Given the description of an element on the screen output the (x, y) to click on. 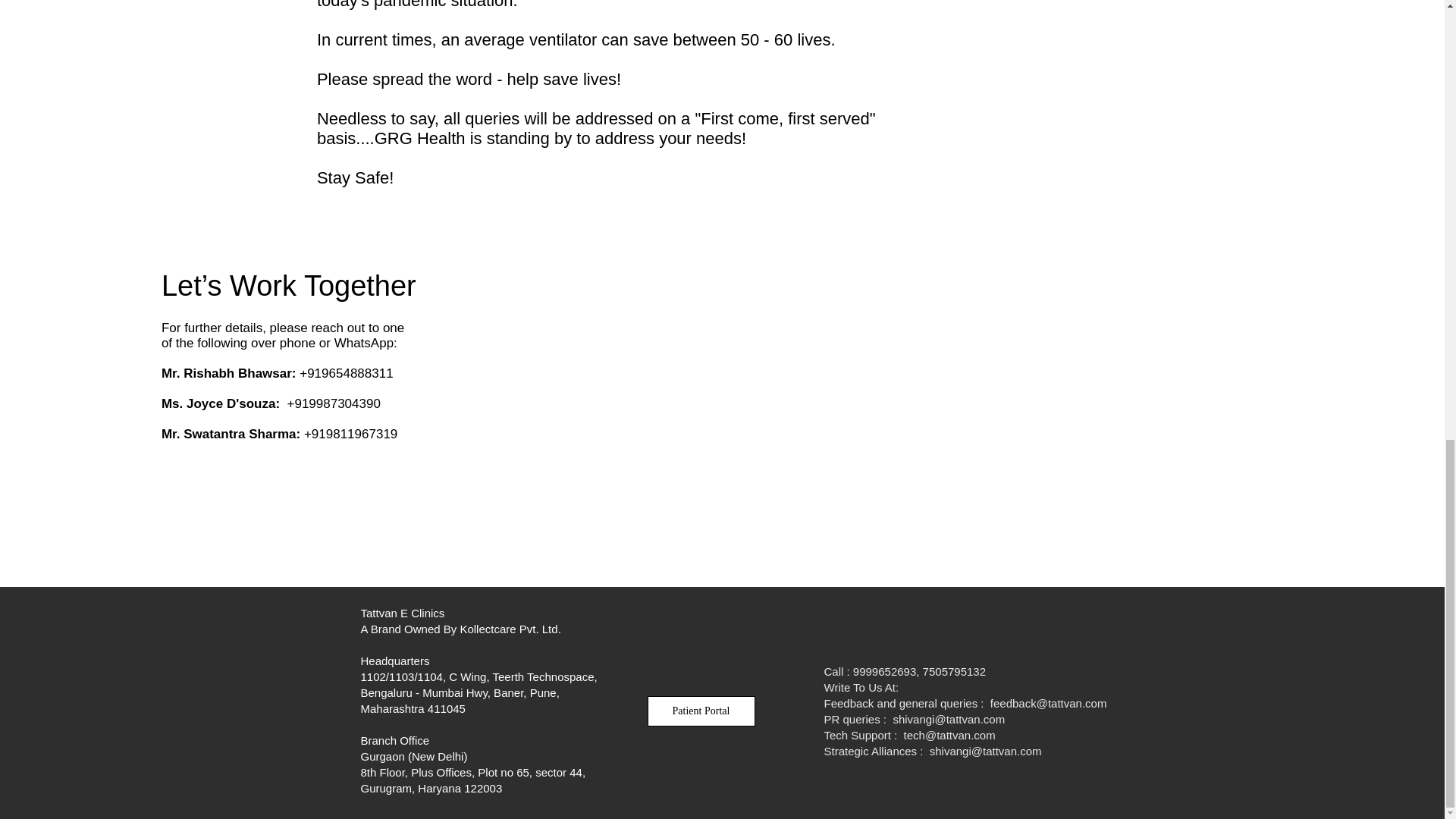
Patient Portal (701, 711)
